Given the description of an element on the screen output the (x, y) to click on. 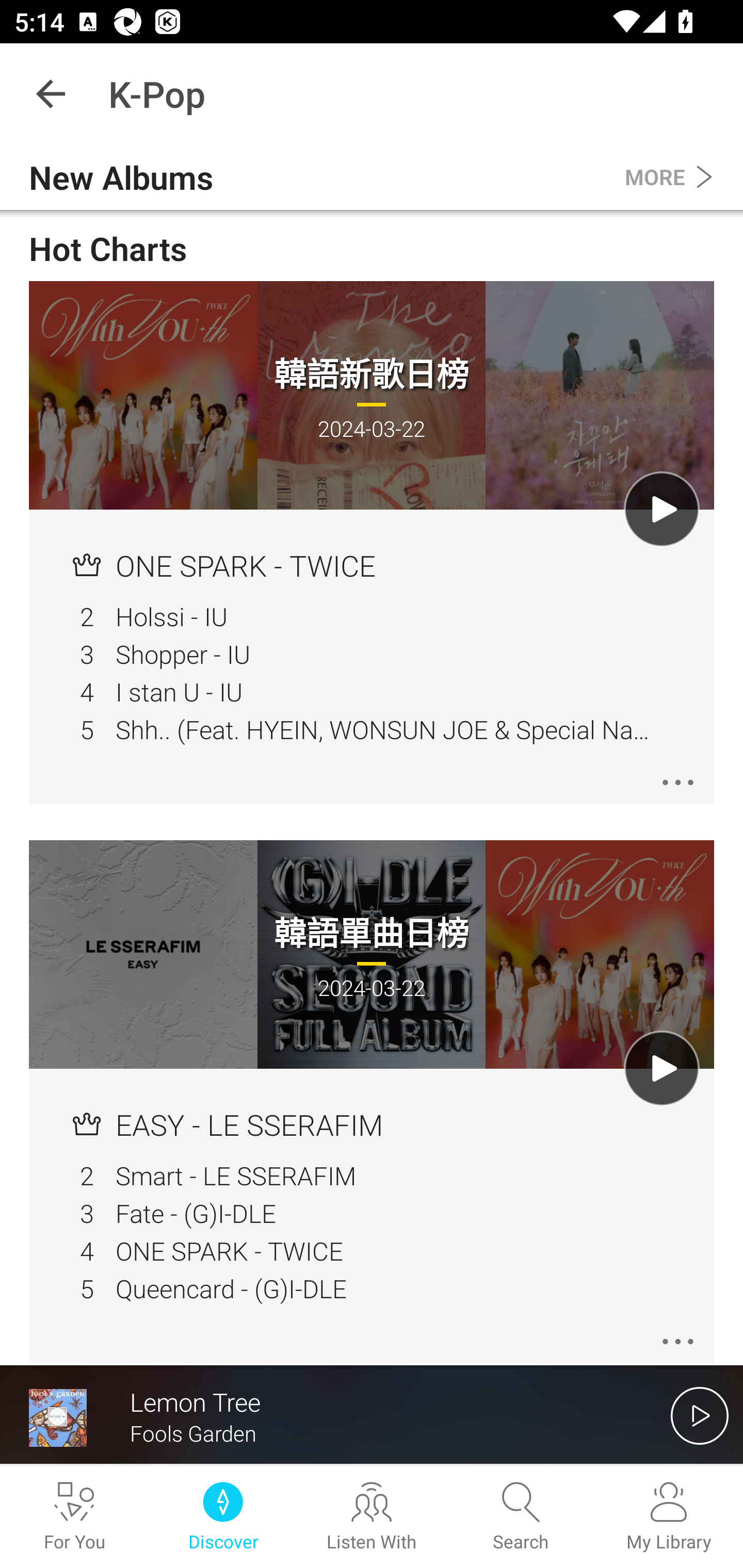
New Albums MORE (371, 177)
Hot Charts (371, 248)
播放歌單 (661, 509)
more (677, 782)
播放歌單 (661, 1068)
more (677, 1341)
開始播放 (699, 1415)
For You (74, 1517)
Discover (222, 1517)
Listen With (371, 1517)
Search (519, 1517)
My Library (668, 1517)
